Given the description of an element on the screen output the (x, y) to click on. 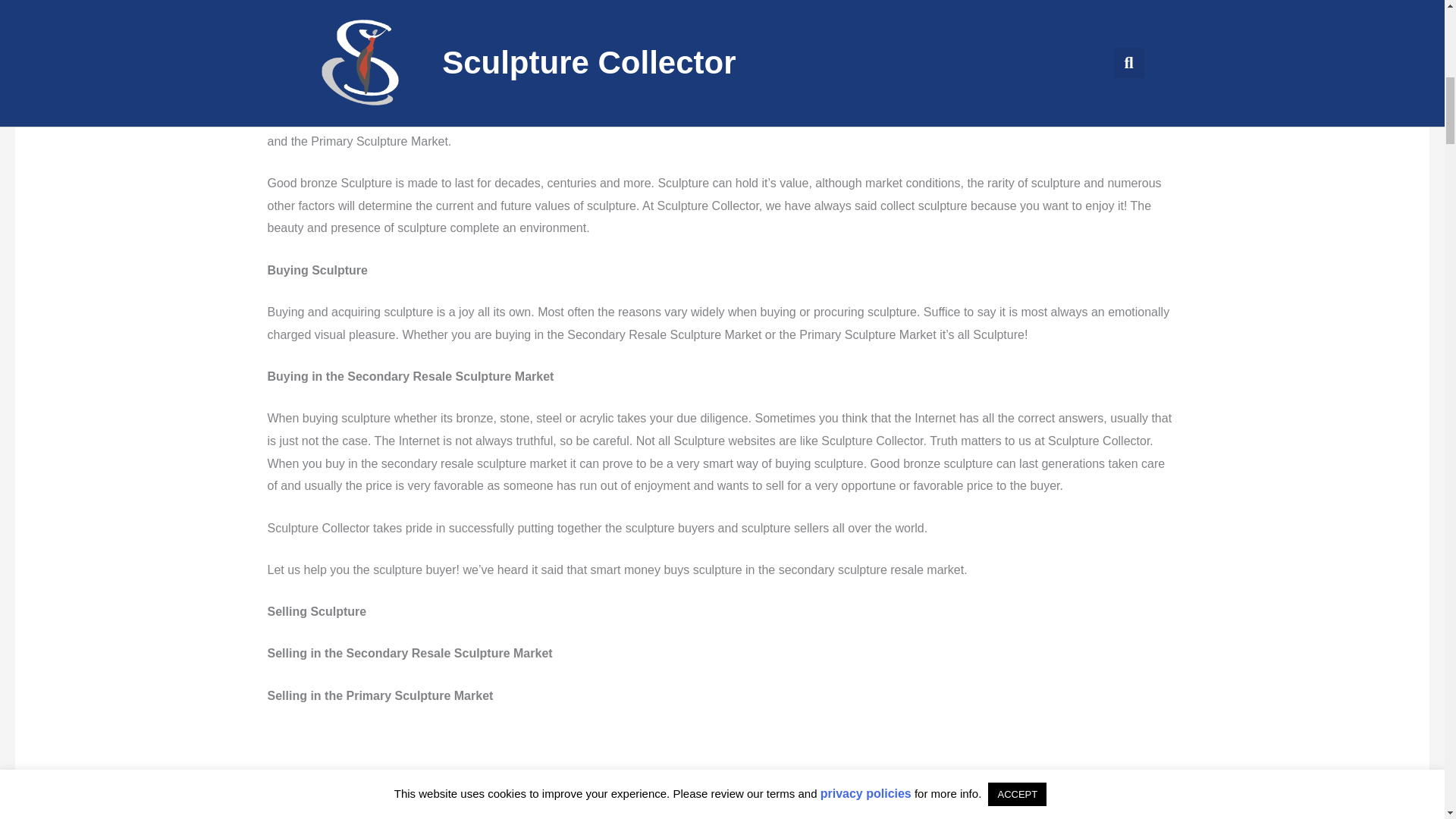
Purchasing Sculpture (1392, 808)
